Given the description of an element on the screen output the (x, y) to click on. 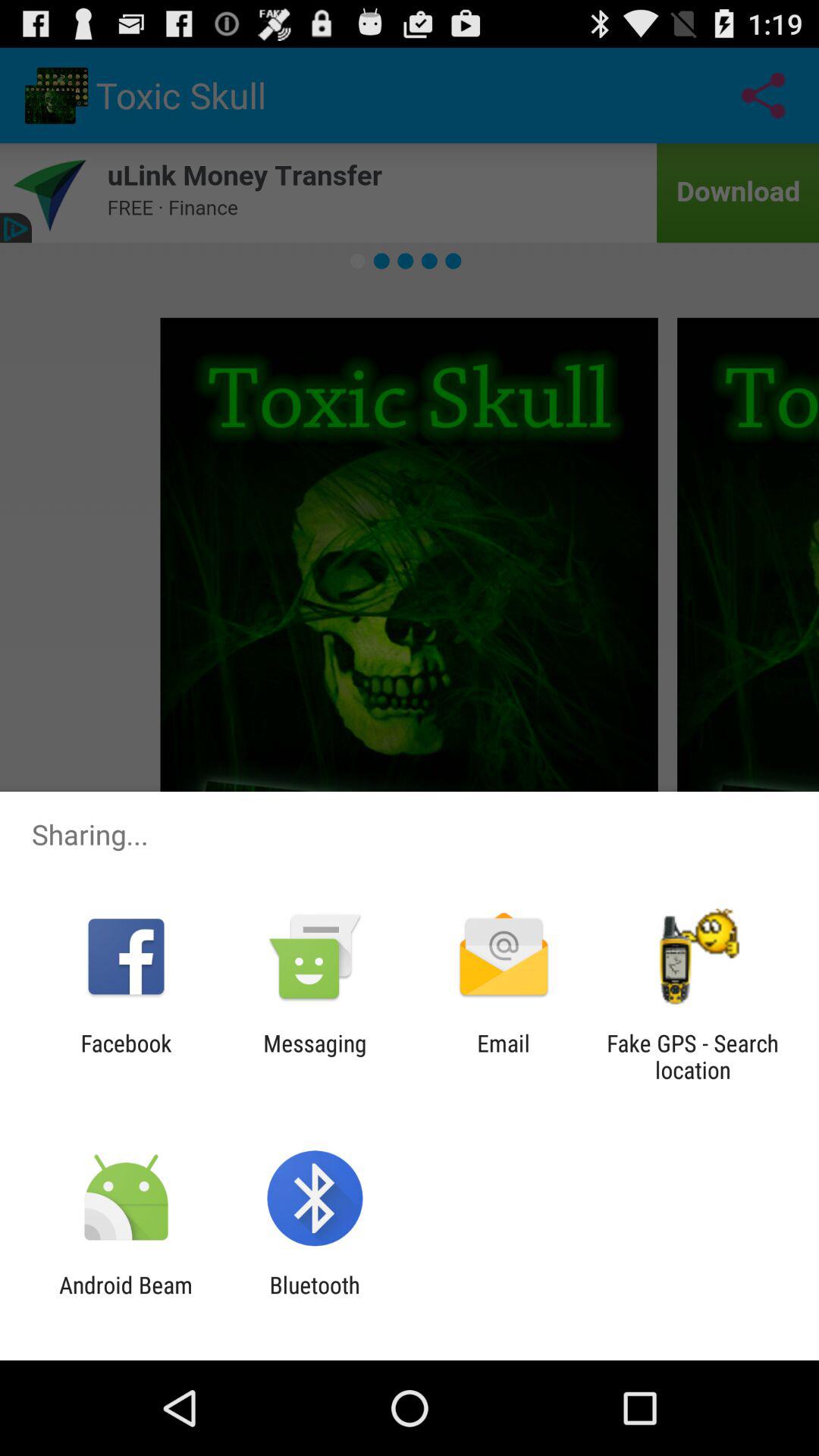
press item to the left of the fake gps search icon (503, 1056)
